Given the description of an element on the screen output the (x, y) to click on. 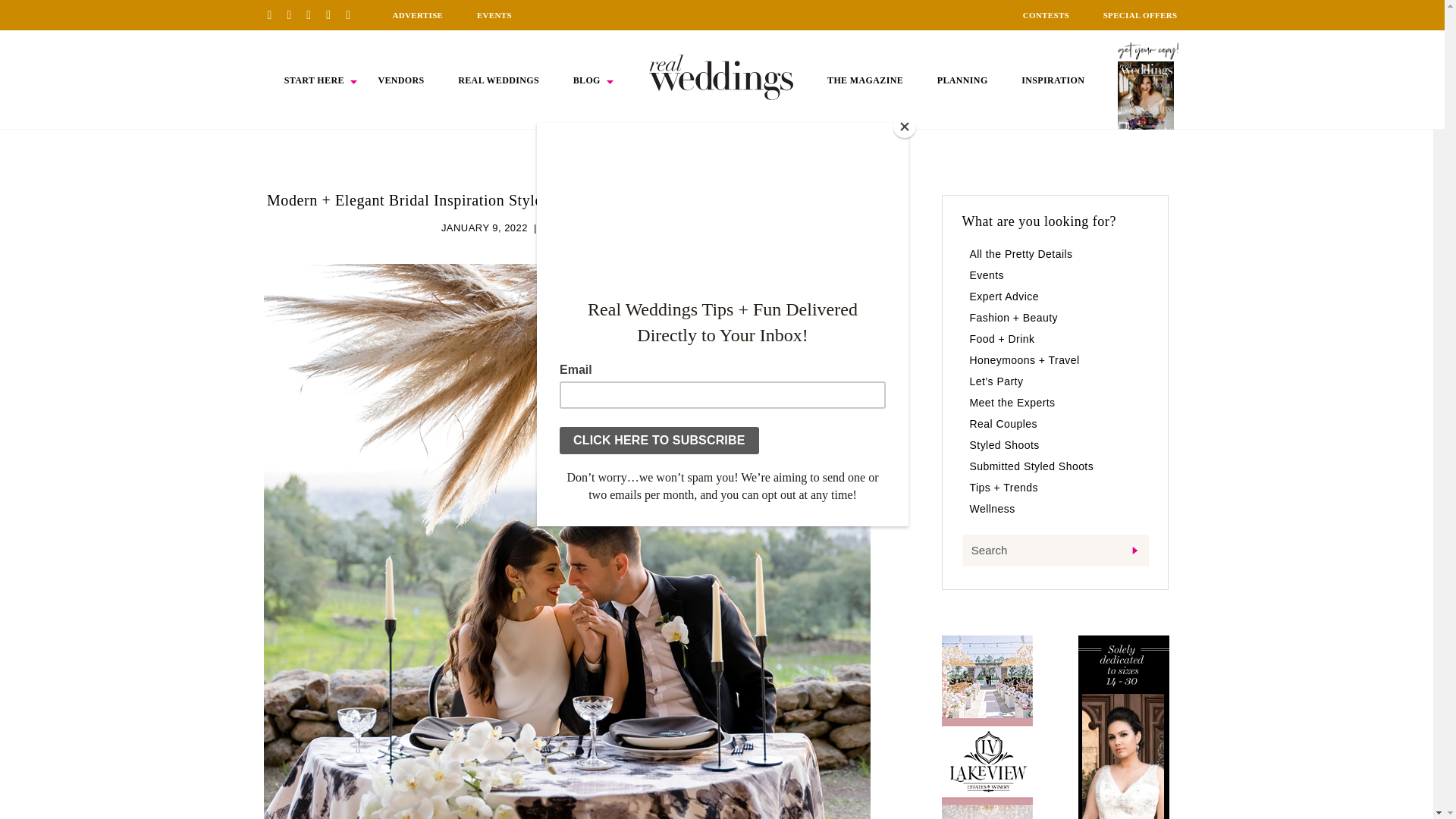
REAL WEDDINGS (498, 80)
THE MAGAZINE (864, 80)
CONTESTS (1045, 14)
VENDORS (400, 80)
ADVERTISE (416, 14)
Facebook (294, 14)
START HERE (313, 80)
Pinterest (274, 14)
SPECIAL OFFERS (1140, 14)
BLOG (586, 80)
Instagram (313, 14)
Twitter (334, 14)
EVENTS (494, 14)
PLANNING (962, 80)
INSPIRATION (1053, 80)
